Given the description of an element on the screen output the (x, y) to click on. 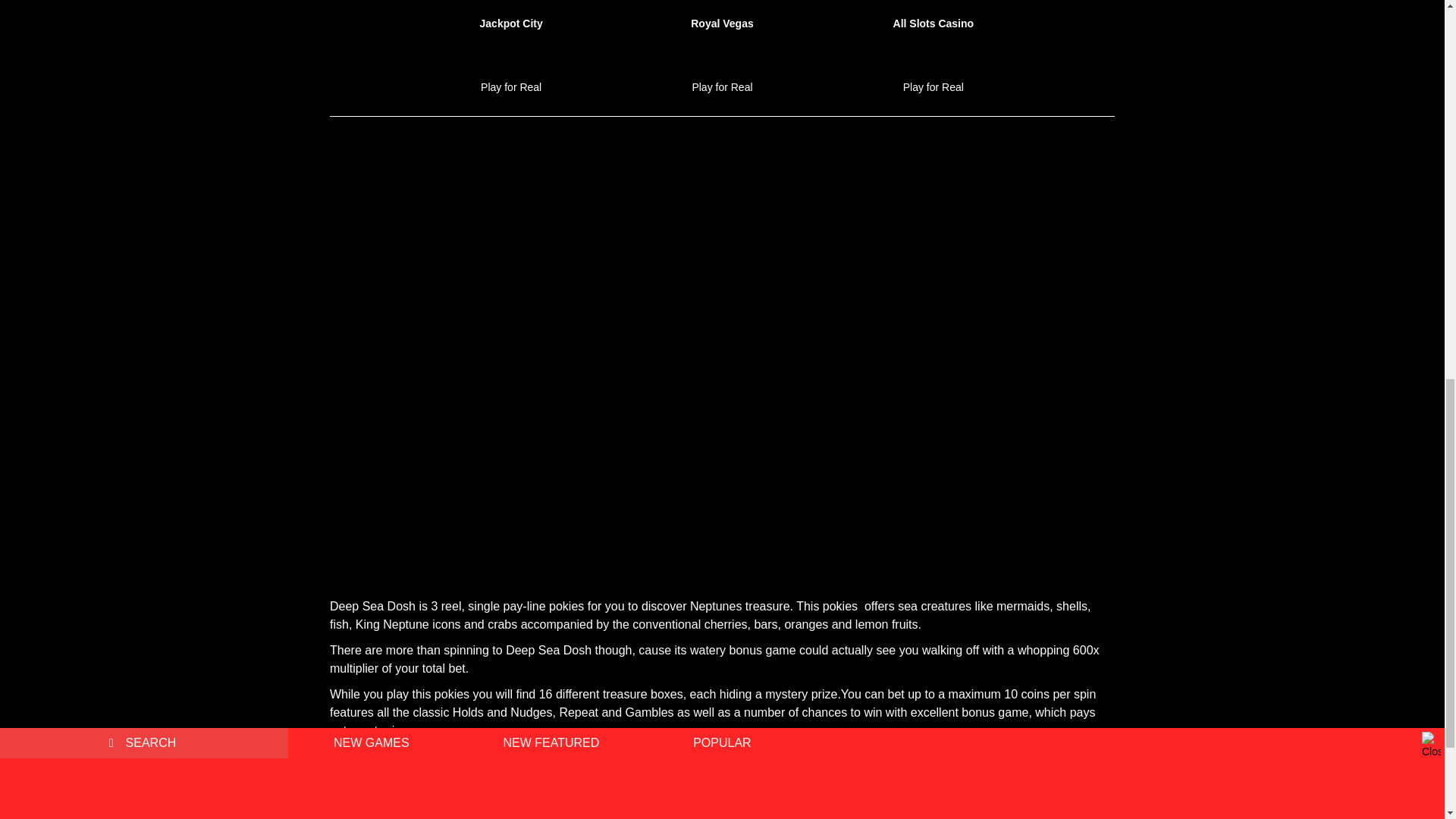
Play for Real (721, 89)
Play for Real (510, 89)
Play for Real (932, 89)
